Given the description of an element on the screen output the (x, y) to click on. 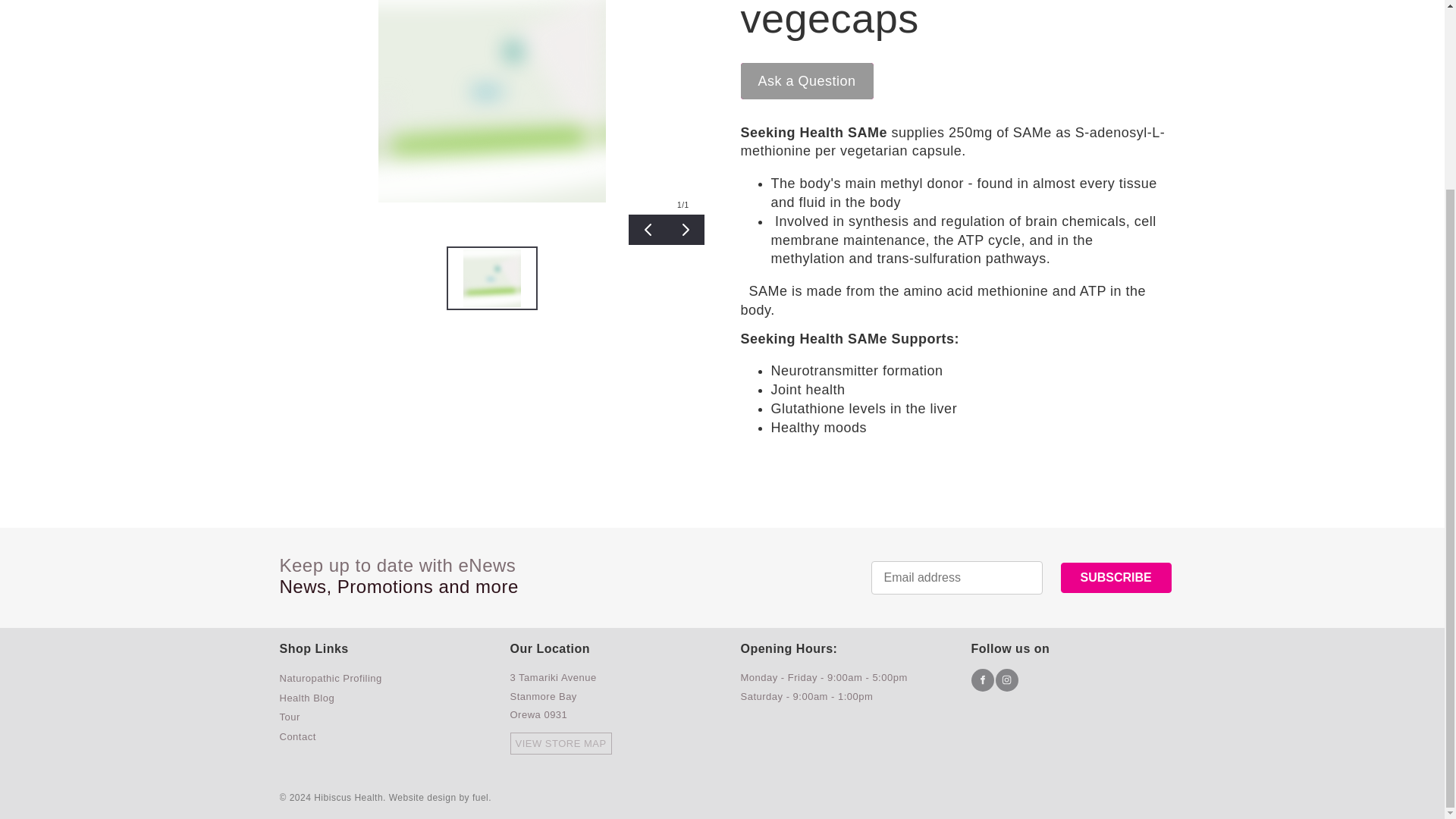
Auckland website design (422, 797)
Ask a Question (805, 81)
Facebook (981, 680)
Tour (289, 716)
Instagram (1005, 680)
Contact (297, 736)
Naturopathic Profiling (330, 677)
VIEW STORE MAP (606, 751)
Website design (422, 797)
Health Blog (306, 697)
SUBSCRIBE (1114, 577)
